Given the description of an element on the screen output the (x, y) to click on. 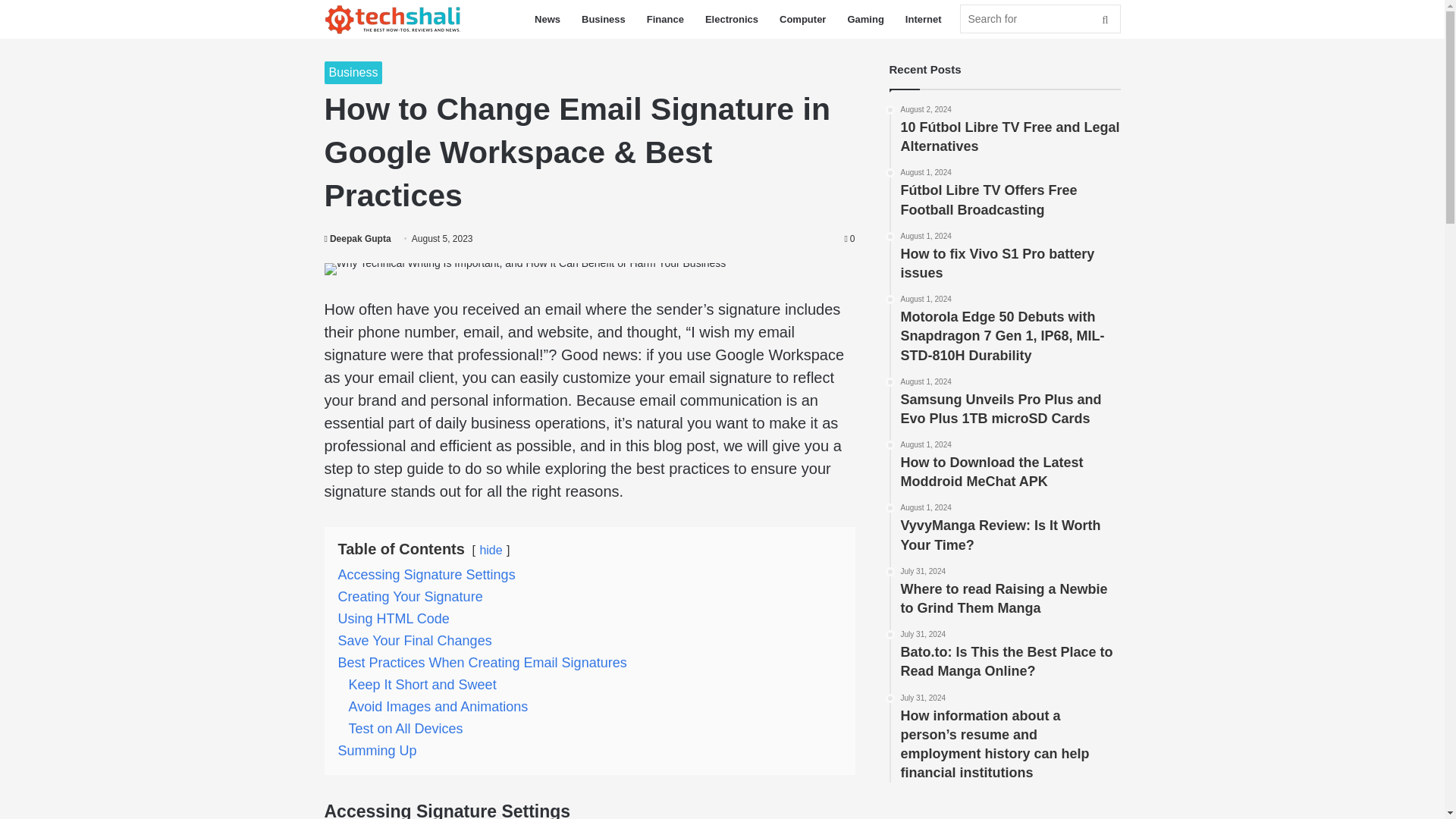
Electronics (731, 19)
Best Practices When Creating Email Signatures (482, 662)
Business (353, 72)
hide (490, 549)
Keep It Short and Sweet (422, 684)
Business (603, 19)
Summing Up (376, 750)
Test on All Devices (406, 728)
Accessing Signature Settings (426, 574)
Techshali (392, 19)
Deepak Gupta (357, 238)
Deepak Gupta (357, 238)
Using HTML Code (393, 618)
Save Your Final Changes (414, 640)
Gaming (864, 19)
